Given the description of an element on the screen output the (x, y) to click on. 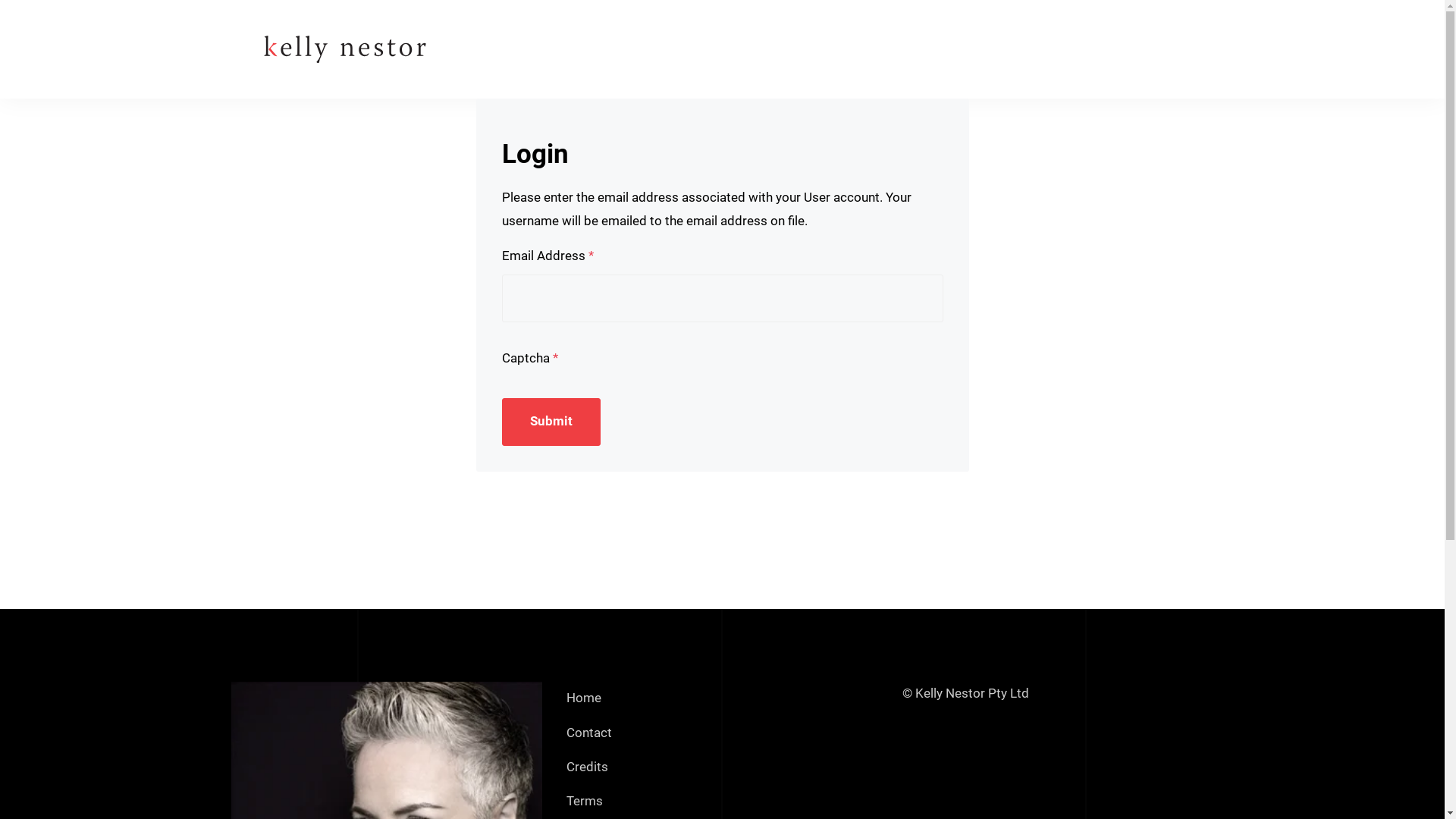
Credits Element type: text (587, 766)
Home Element type: text (583, 698)
Submit Element type: text (551, 421)
Kelly Nestor - Presenter and Teacher Element type: hover (344, 48)
Contact Element type: text (588, 732)
